Given the description of an element on the screen output the (x, y) to click on. 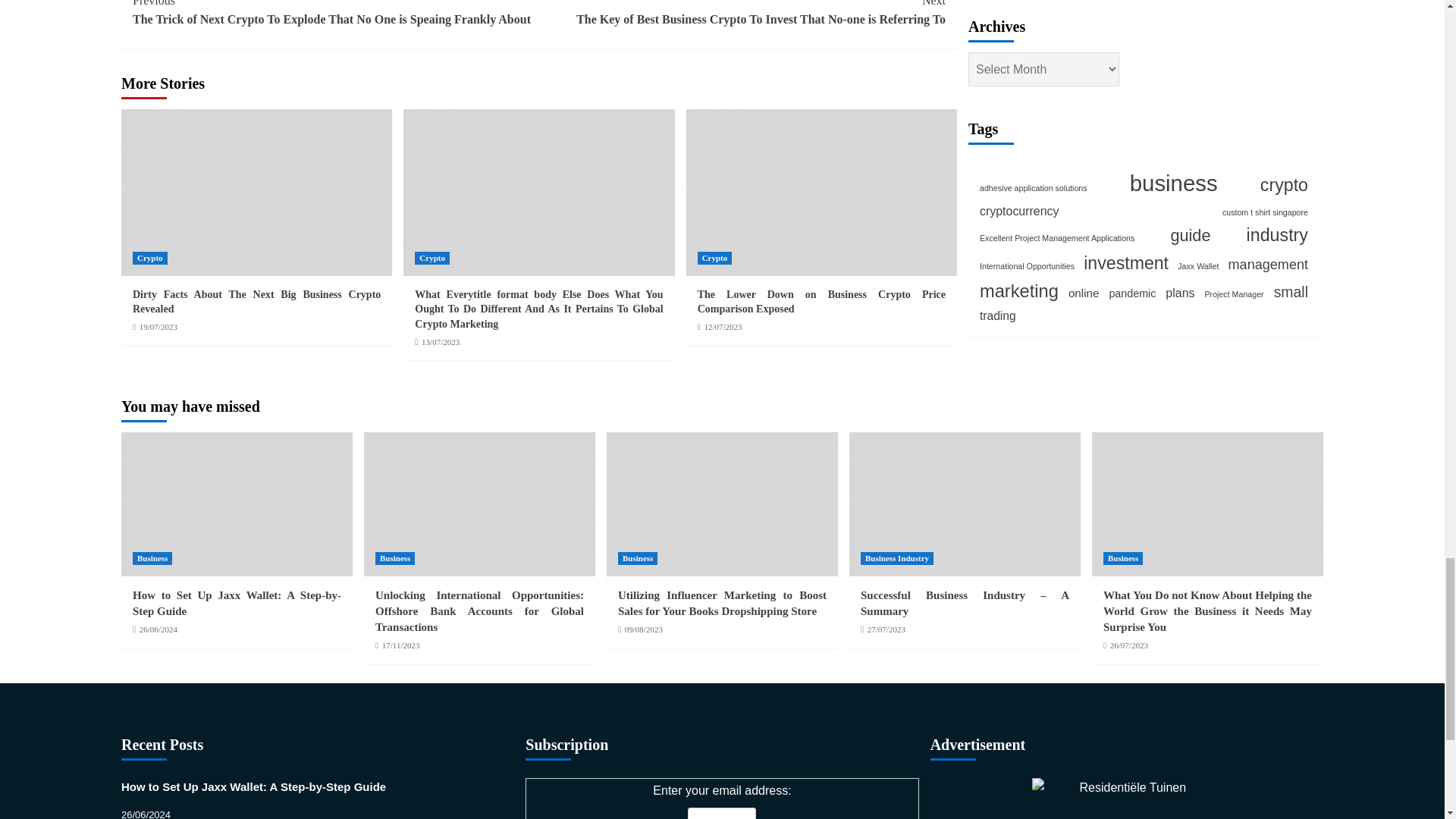
Crypto (431, 257)
The Lower Down on Business Crypto Price Comparison Exposed (820, 302)
Crypto (714, 257)
Dirty Facts About The Next Big Business Crypto Revealed (255, 192)
Dirty Facts About The Next Big Business Crypto Revealed (256, 302)
Crypto (149, 257)
